Given the description of an element on the screen output the (x, y) to click on. 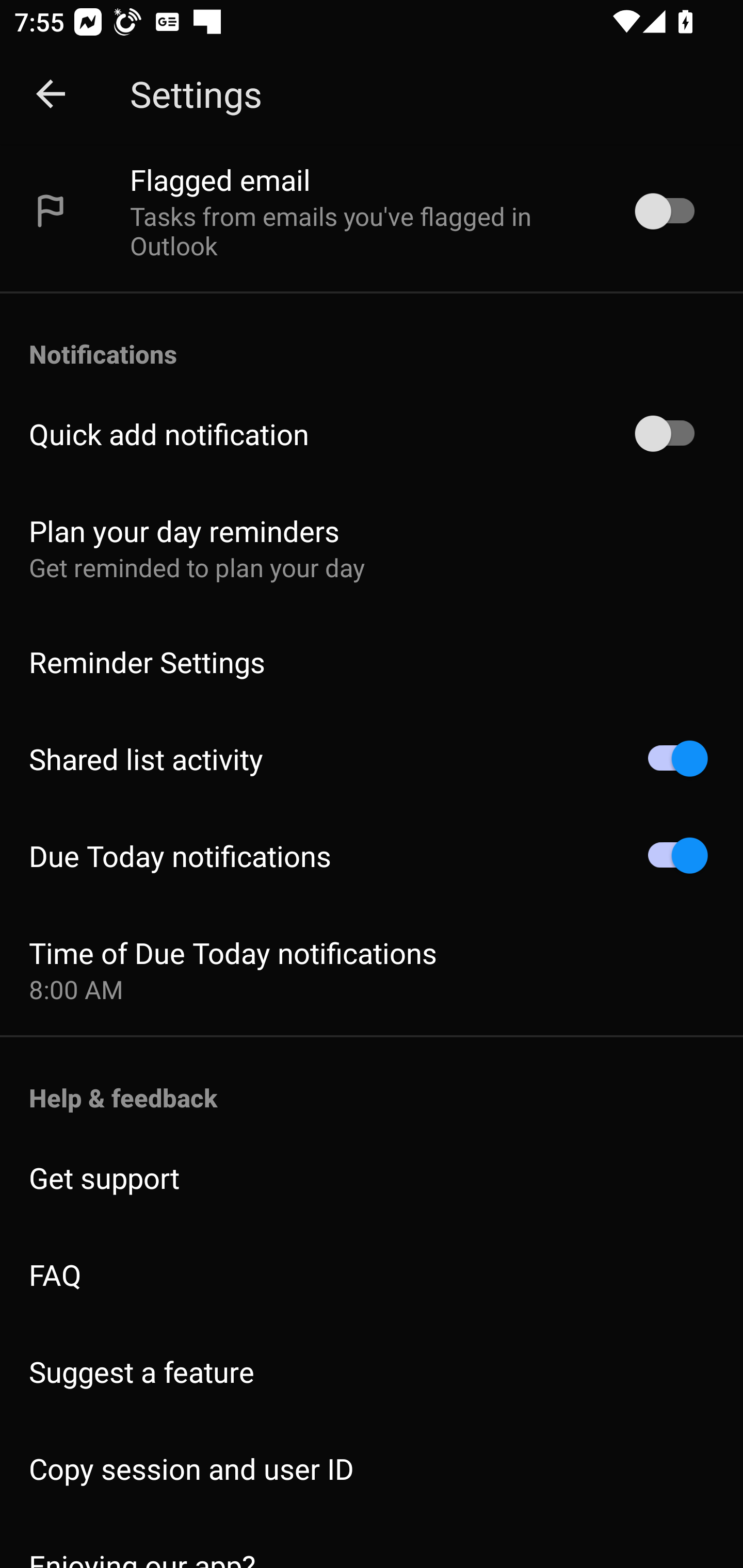
Navigate up (50, 93)
Quick add notification (371, 433)
Reminder Settings (371, 661)
Shared list activity (371, 758)
Due Today notifications (371, 855)
Time of Due Today notifications 8:00 AM (371, 969)
Get support (371, 1177)
FAQ (371, 1274)
Suggest a feature (371, 1371)
Copy session and user ID (371, 1468)
